Given the description of an element on the screen output the (x, y) to click on. 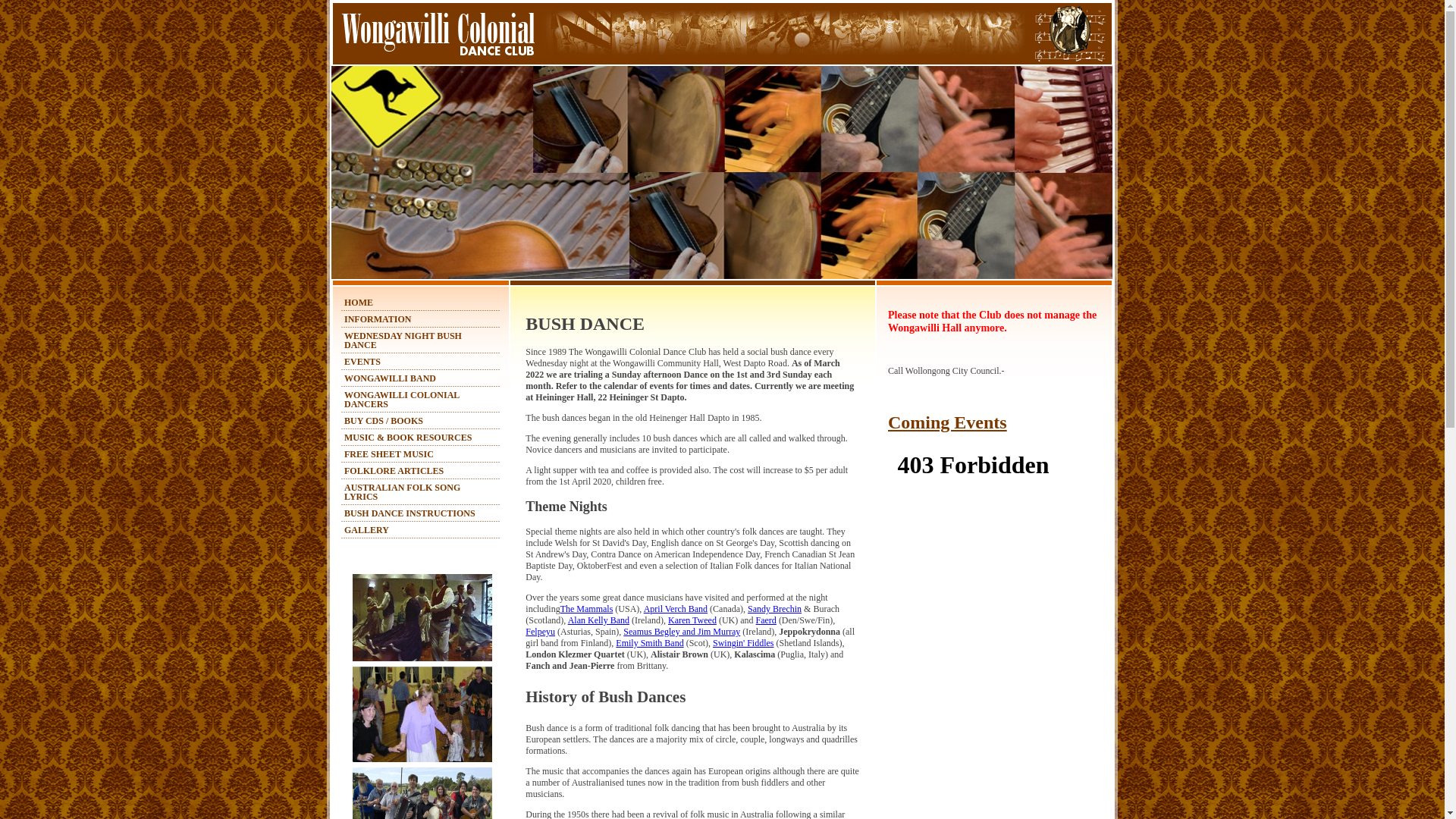
FREE SHEET MUSIC Element type: text (388, 453)
BUY CDS / BOOKS Element type: text (383, 420)
Swingin' Fiddles Element type: text (743, 642)
INFORMATION Element type: text (377, 318)
BUSH DANCE INSTRUCTIONS Element type: text (409, 513)
WEDNESDAY NIGHT BUSH DANCE Element type: text (402, 340)
Karen Tweed Element type: text (692, 620)
AUSTRALIAN FOLK SONG LYRICS Element type: text (402, 492)
HOME Element type: text (358, 302)
April Verch Band Element type: text (675, 608)
Sandy Brechin Element type: text (774, 608)
The Mammals Element type: text (586, 608)
MUSIC & BOOK RESOURCES Element type: text (407, 437)
WONGAWILLI BAND Element type: text (390, 378)
EVENTS Element type: text (362, 361)
Emily Smith Band Element type: text (649, 642)
Coming Events Element type: text (947, 422)
WONGAWILLI COLONIAL DANCERS Element type: text (401, 399)
Faerd Element type: text (766, 620)
Felpeyu Element type: text (540, 631)
Seamus Begley and Jim Murray Element type: text (681, 631)
GALLERY Element type: text (366, 529)
Alan Kelly Band Element type: text (598, 620)
FOLKLORE ARTICLES Element type: text (393, 470)
